Given the description of an element on the screen output the (x, y) to click on. 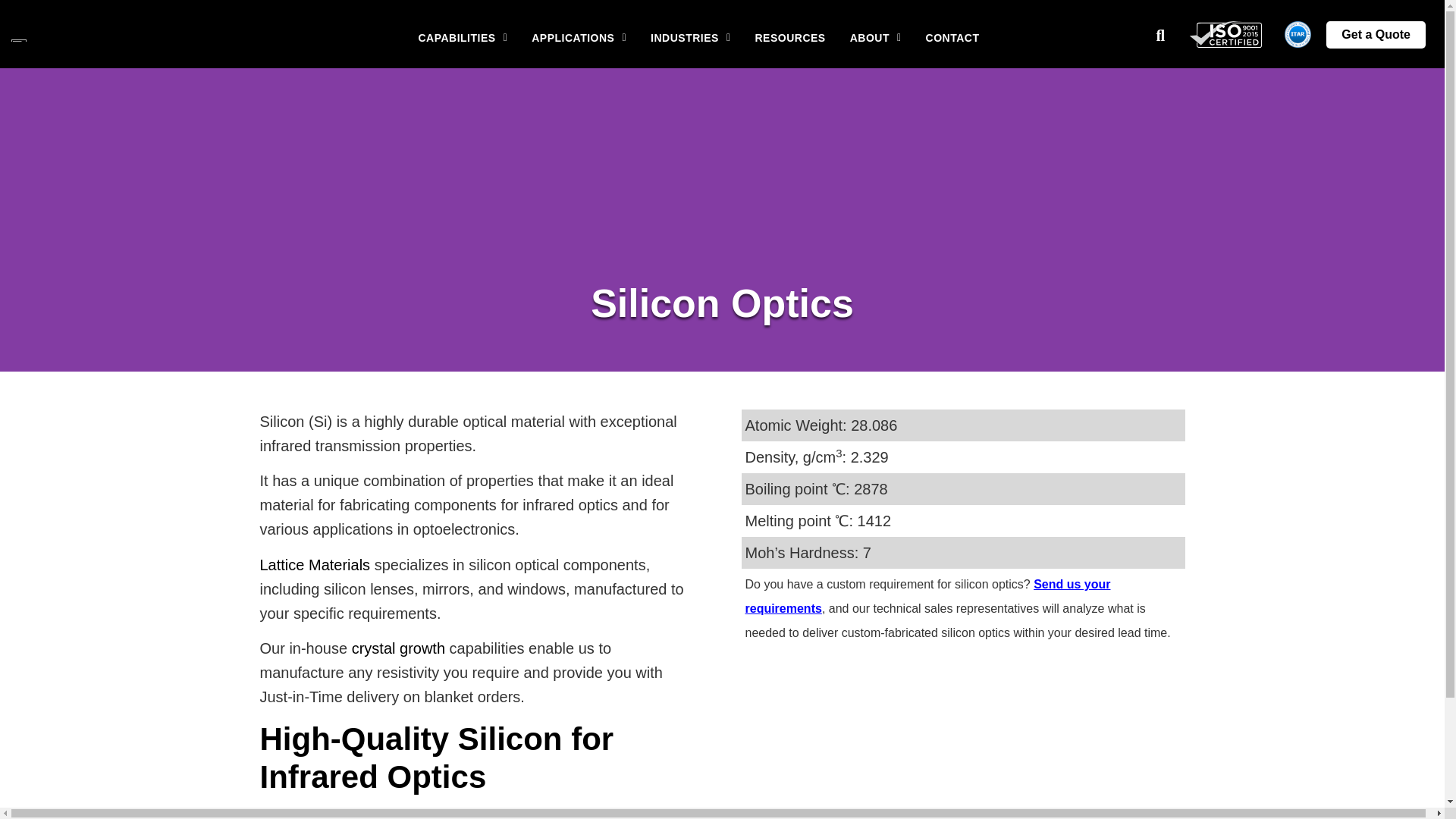
CONTACT (952, 37)
INDUSTRIES (690, 37)
CAPABILITIES (462, 37)
APPLICATIONS (579, 37)
RESOURCES (790, 37)
ABOUT (876, 37)
